Given the description of an element on the screen output the (x, y) to click on. 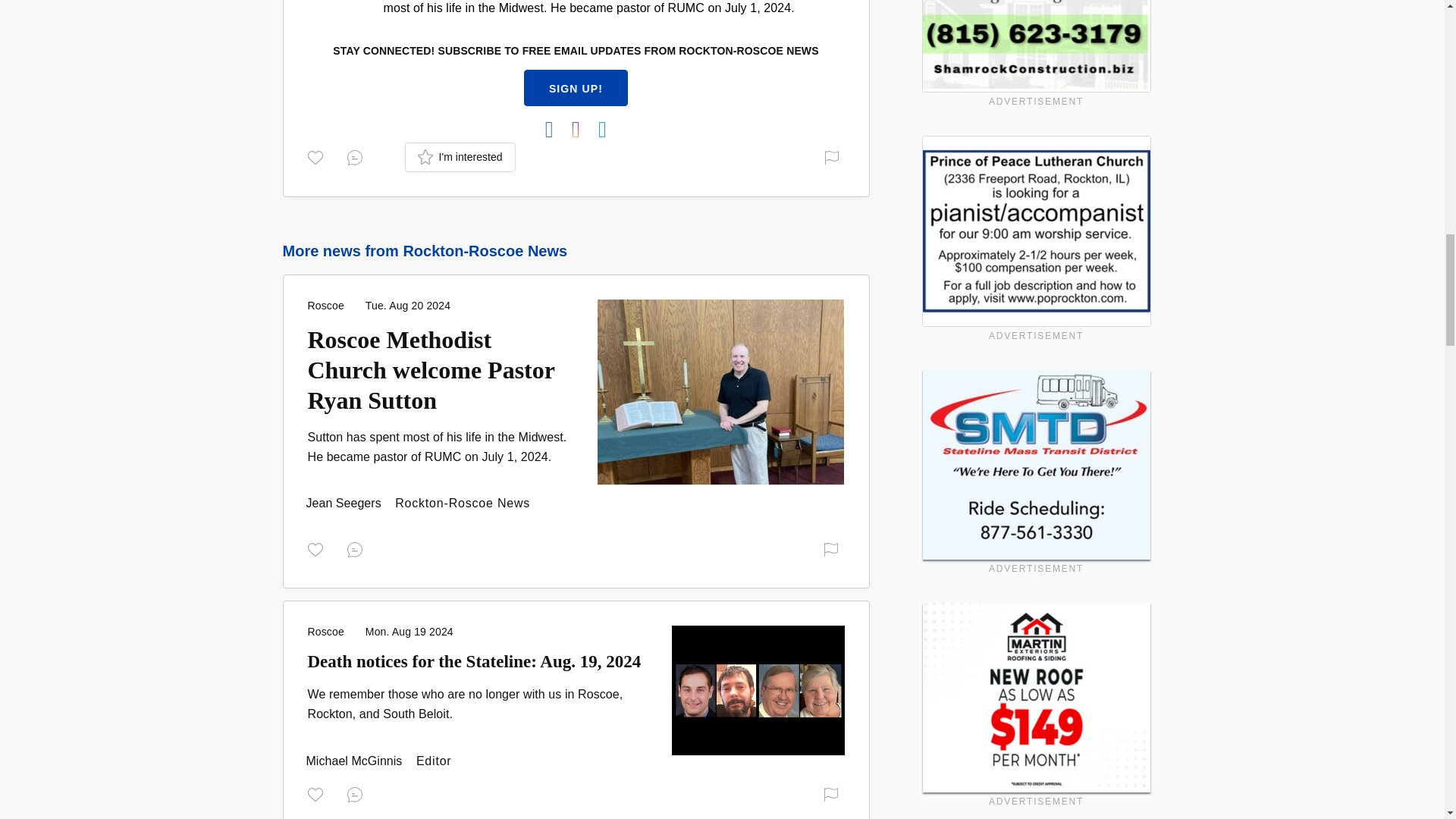
Reply (357, 548)
Editor (355, 760)
Reply (357, 793)
Thank (318, 156)
Reply (357, 156)
Thank (318, 548)
Thank (318, 793)
